Given the description of an element on the screen output the (x, y) to click on. 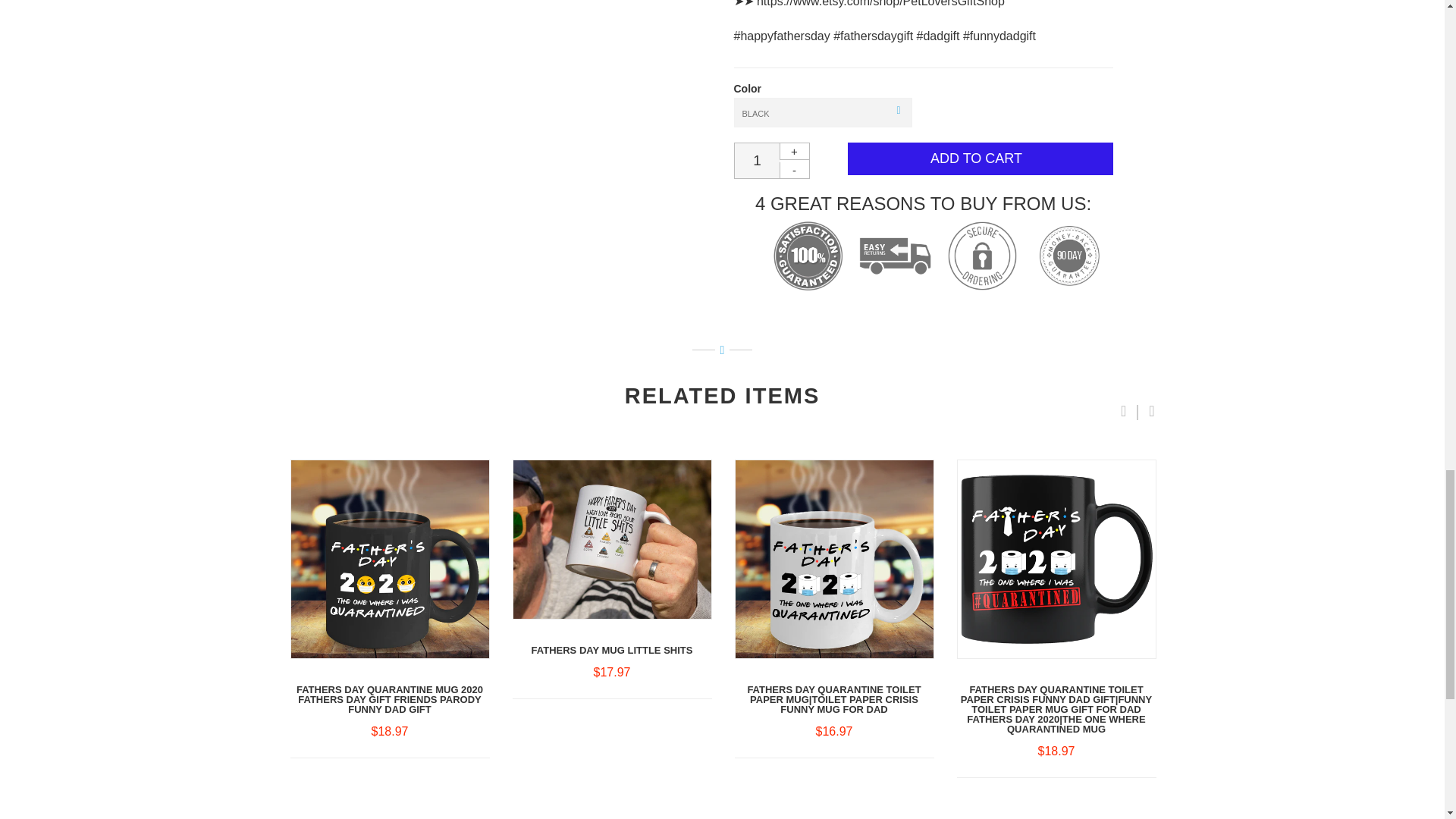
ADD TO CART (980, 158)
1 (755, 160)
